Given the description of an element on the screen output the (x, y) to click on. 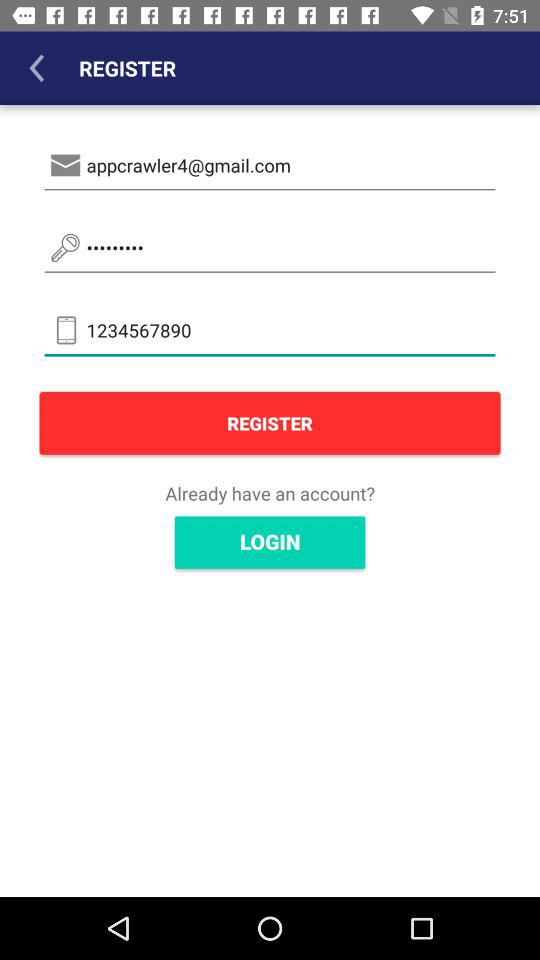
turn off the 1234567890 (269, 330)
